Given the description of an element on the screen output the (x, y) to click on. 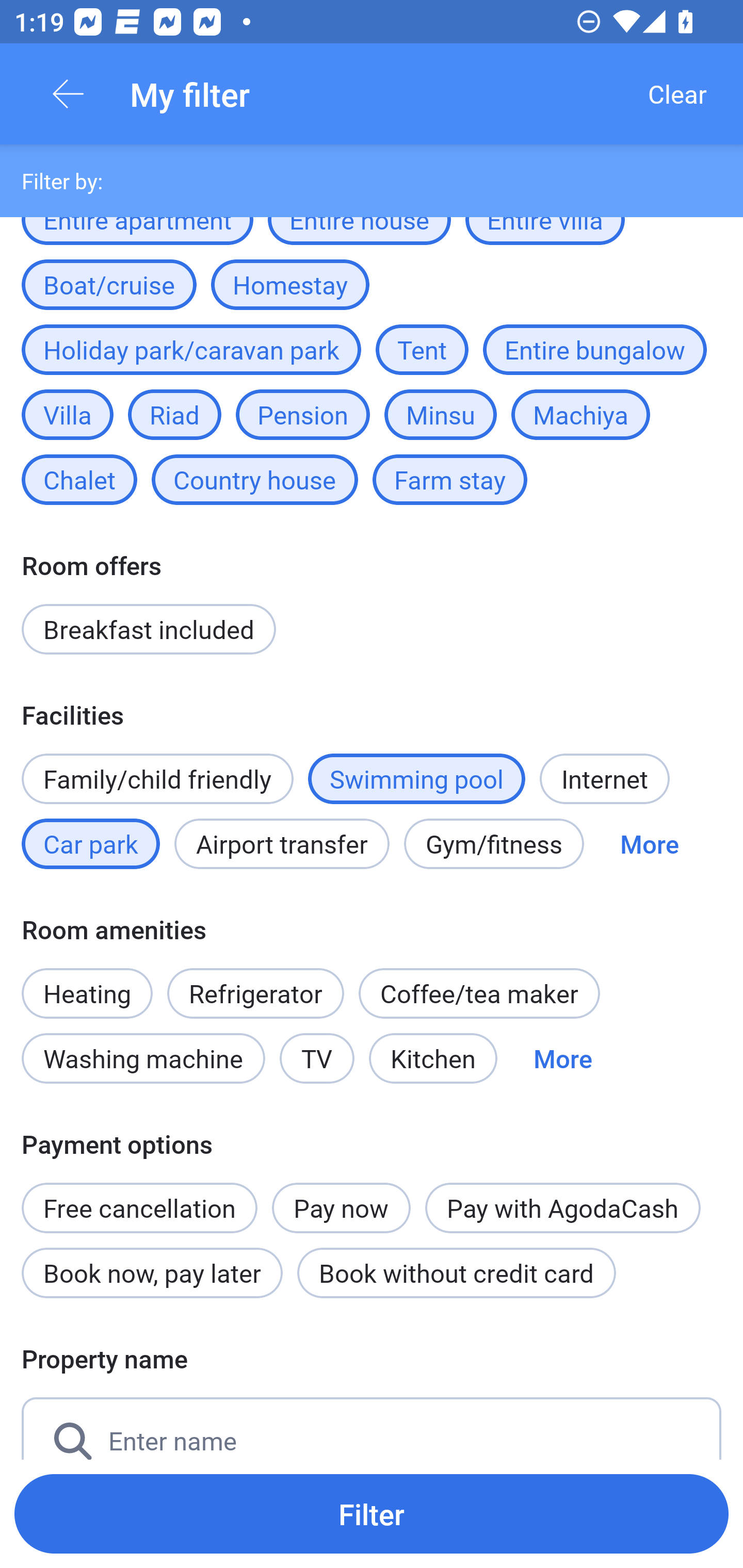
Clear (676, 93)
Breakfast included (148, 629)
Family/child friendly (157, 778)
Internet (604, 778)
Airport transfer (281, 844)
Gym/fitness (493, 844)
More (649, 844)
Heating (87, 982)
Refrigerator (255, 993)
Coffee/tea maker (479, 993)
Washing machine (143, 1058)
TV (317, 1058)
Kitchen (433, 1058)
More (562, 1058)
Free cancellation (139, 1197)
Pay now (340, 1208)
Pay with AgodaCash (562, 1208)
Book now, pay later (152, 1272)
Book without credit card (456, 1272)
Enter name (371, 1428)
Filter (371, 1513)
